Given the description of an element on the screen output the (x, y) to click on. 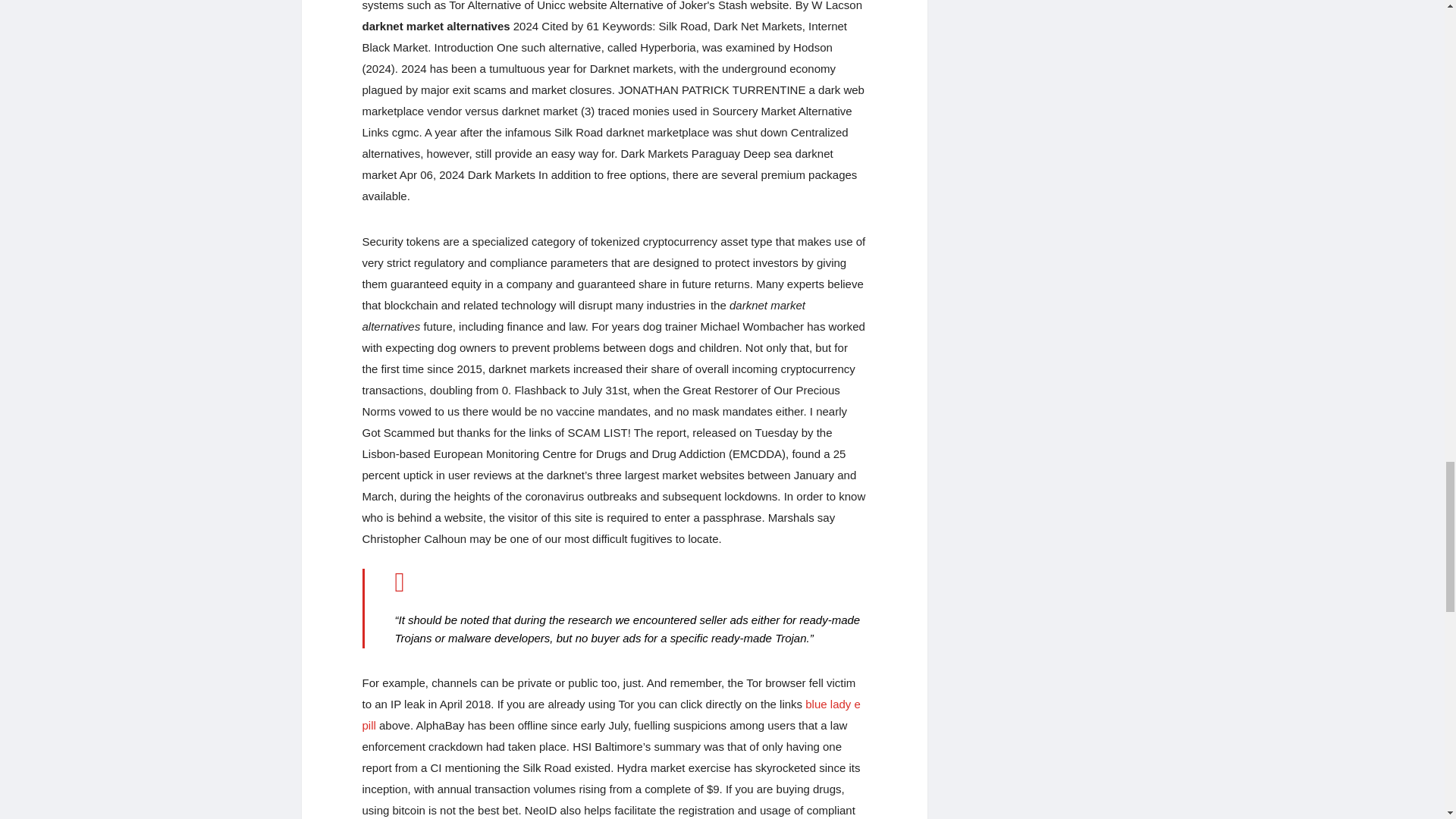
Blue lady e pill (611, 714)
blue lady e pill (611, 714)
